Given the description of an element on the screen output the (x, y) to click on. 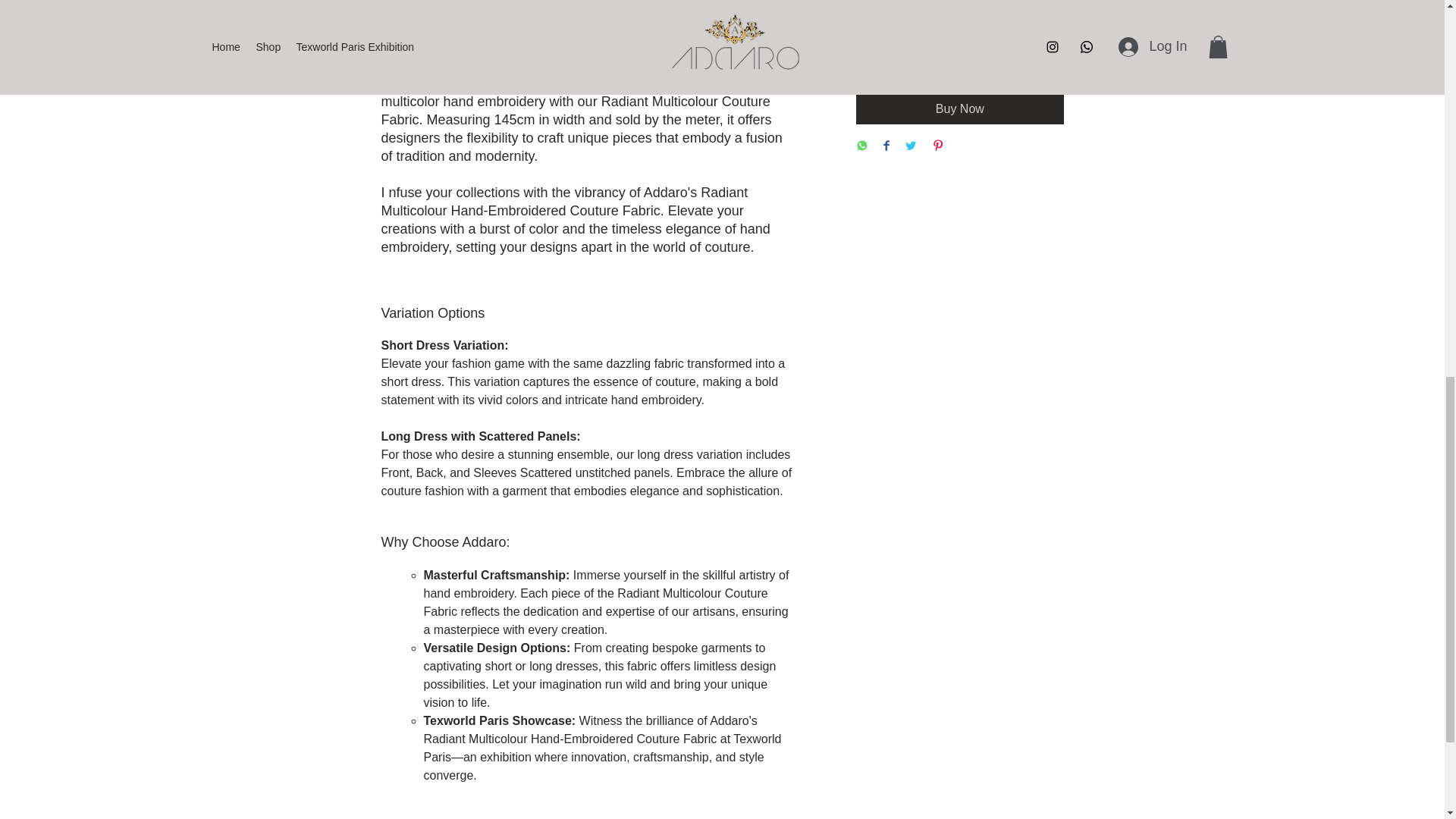
Add to Cart (940, 69)
Buy Now (959, 109)
1 (885, 14)
